Given the description of an element on the screen output the (x, y) to click on. 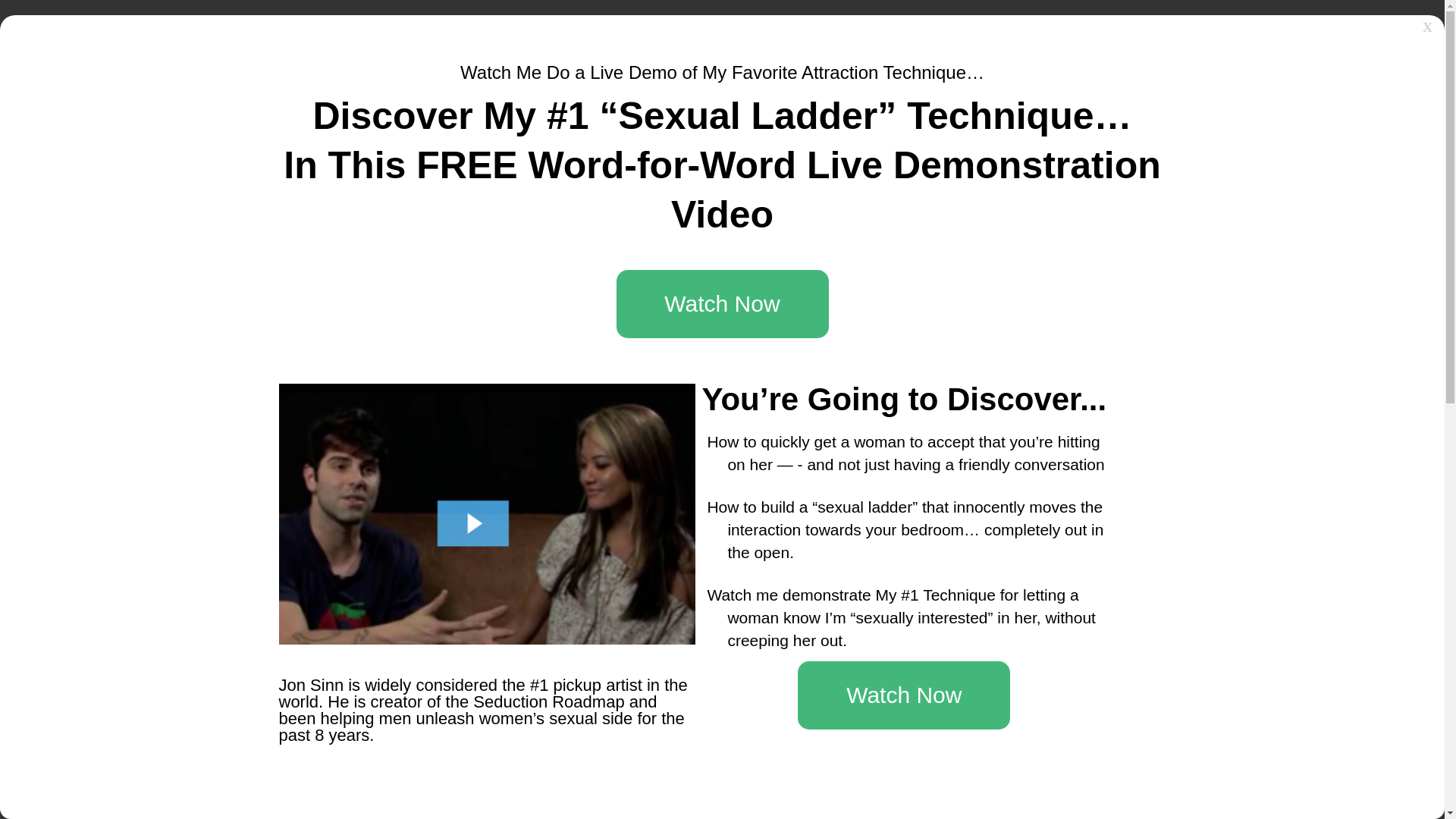
BOBBY RIO (420, 204)
New? Start Here (1037, 108)
FREE TRAINING CLASS (1075, 30)
DATING ADVICE BLOG (895, 30)
Share (609, 284)
Tyler Durden videos (589, 383)
Share (609, 554)
